Given the description of an element on the screen output the (x, y) to click on. 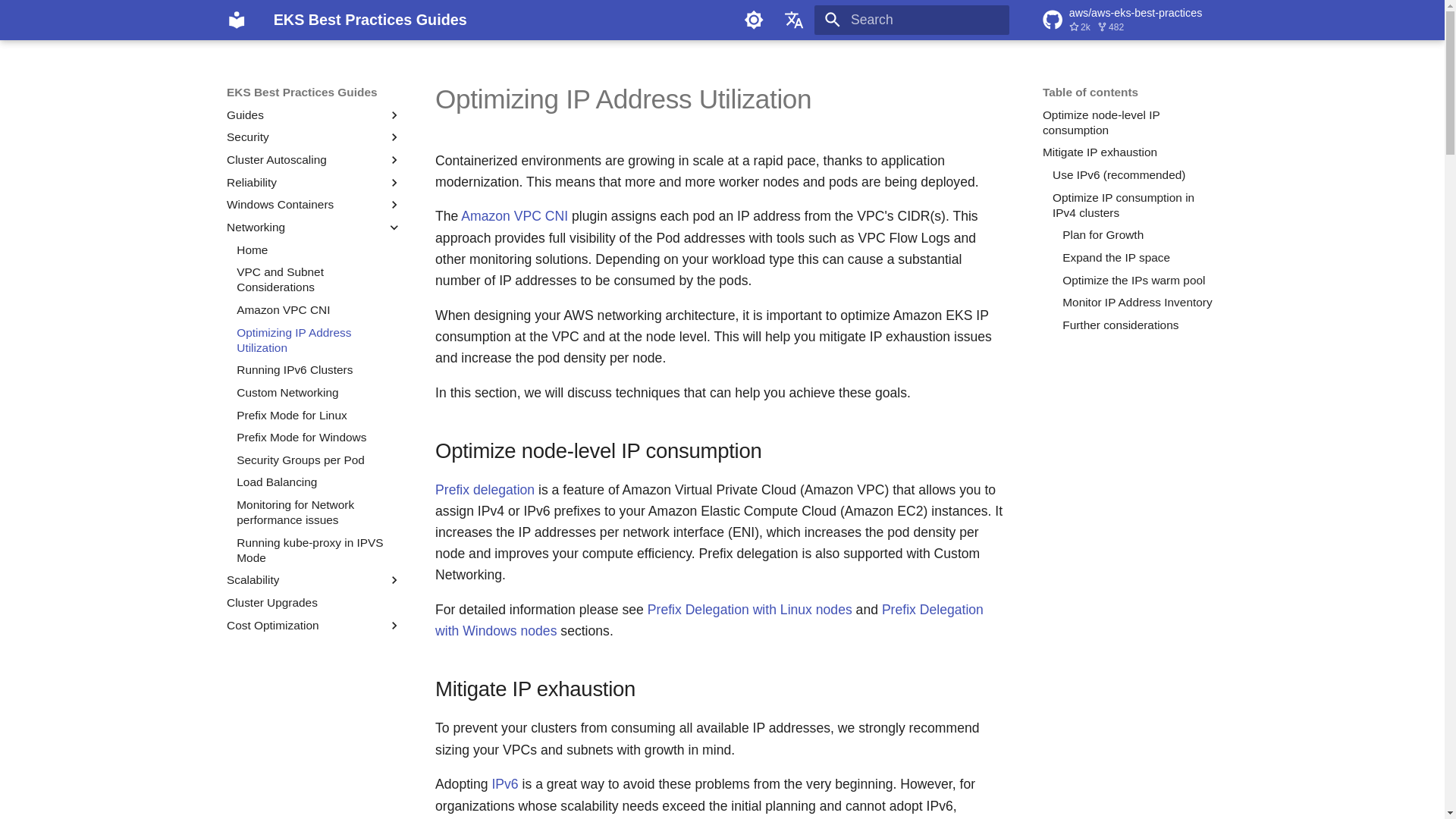
EKS Best Practices Guides (236, 19)
switch to dark mode (753, 19)
Go to repository (1129, 20)
